Given the description of an element on the screen output the (x, y) to click on. 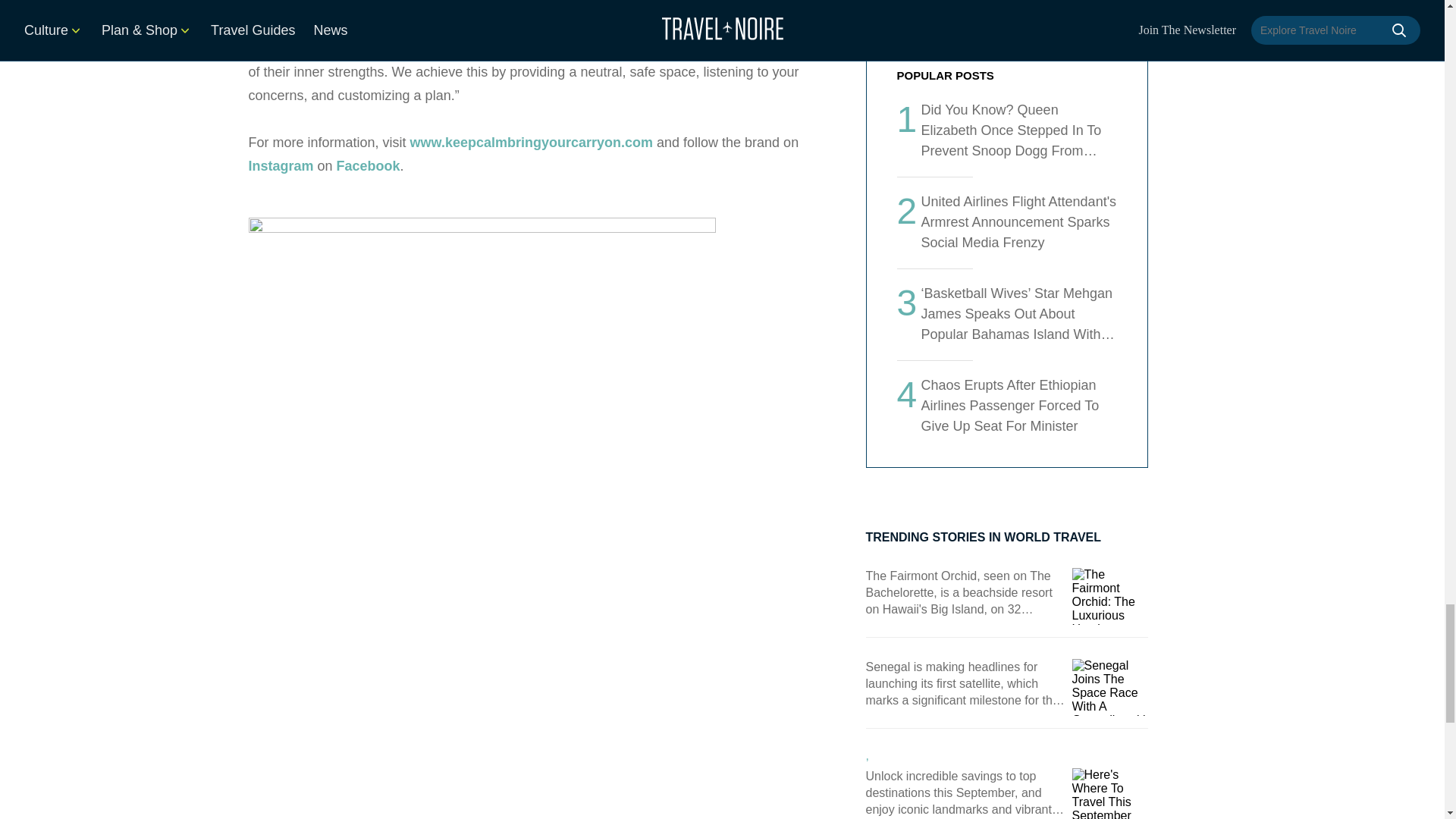
Facebook (368, 165)
www.keepcalmbringyourcarryon.com (531, 142)
Instagram (281, 165)
digital nomads (525, 4)
